Given the description of an element on the screen output the (x, y) to click on. 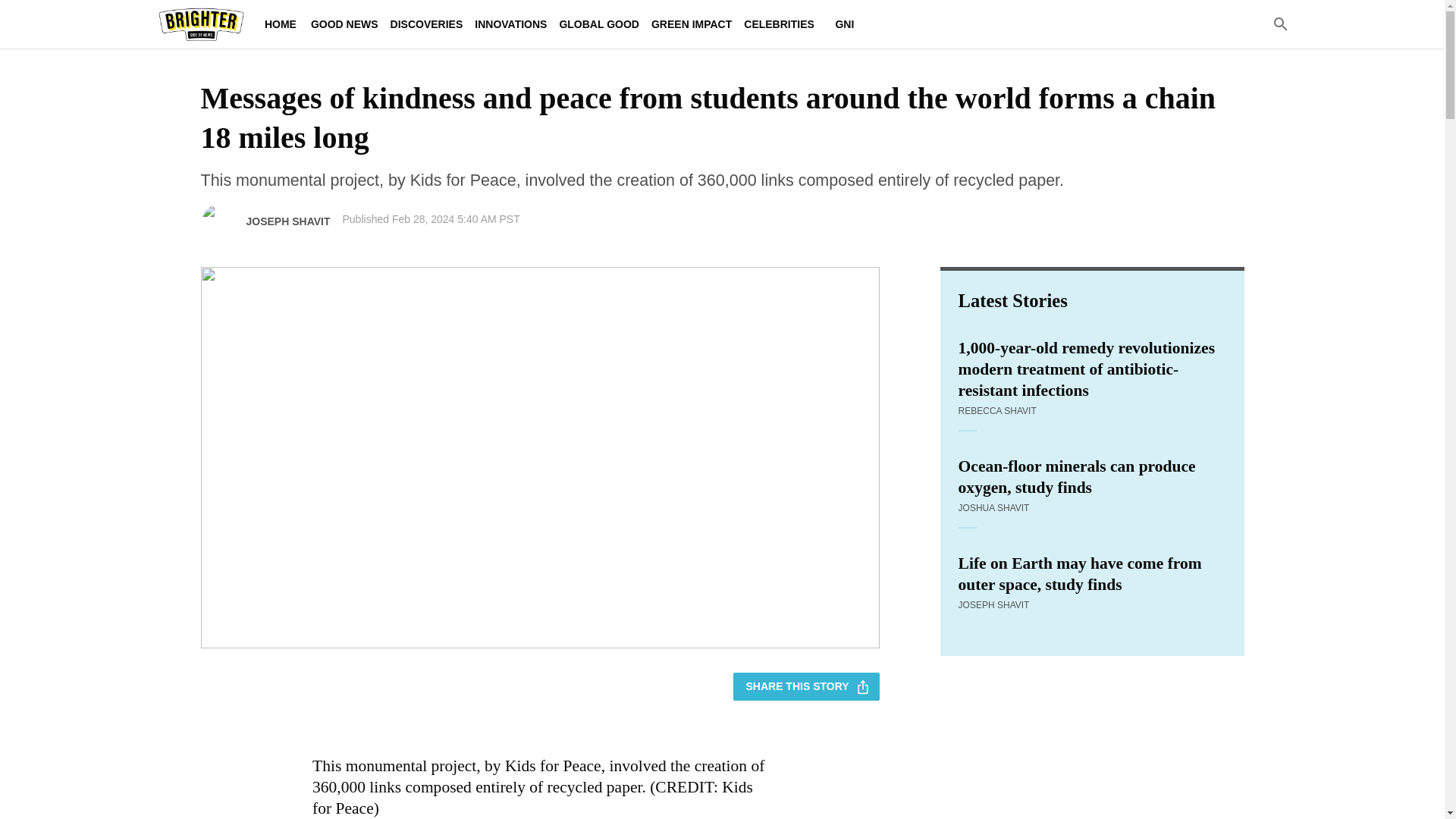
REBECCA SHAVIT (997, 410)
GOOD NEWS (344, 24)
GREEN IMPACT (691, 24)
SHARE THIS STORY (806, 686)
Brighter Side of News (200, 24)
DISCOVERIES (426, 24)
Life on Earth may have come from outer space, study finds (1091, 573)
GNI (845, 24)
Ocean-floor minerals can produce oxygen, study finds (1091, 476)
GLOBAL GOOD (599, 24)
CELEBRITIES (779, 24)
JOSEPH SHAVIT (288, 221)
JOSHUA SHAVIT (993, 507)
JOSEPH SHAVIT (993, 604)
